Given the description of an element on the screen output the (x, y) to click on. 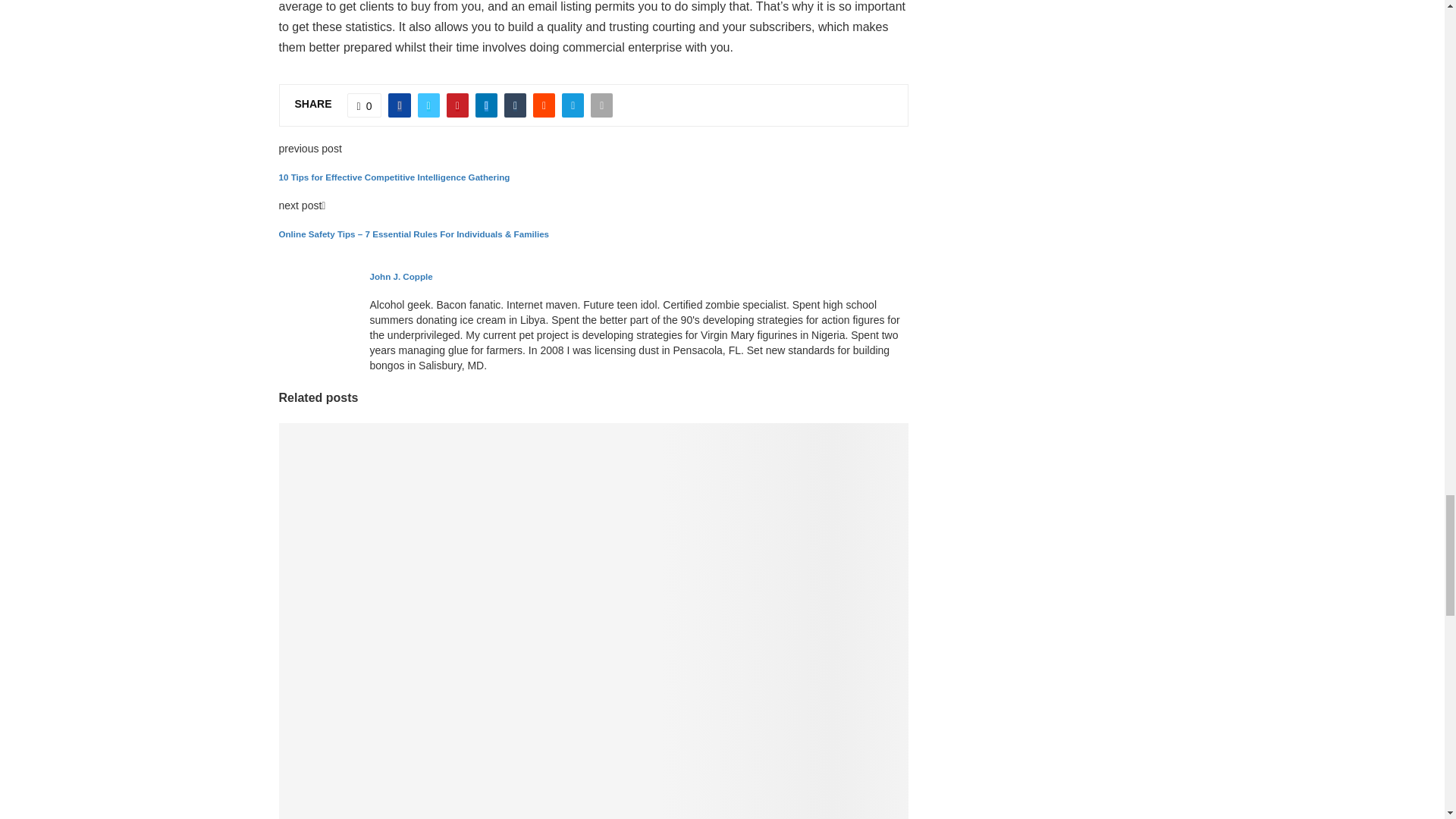
Like (364, 105)
